Given the description of an element on the screen output the (x, y) to click on. 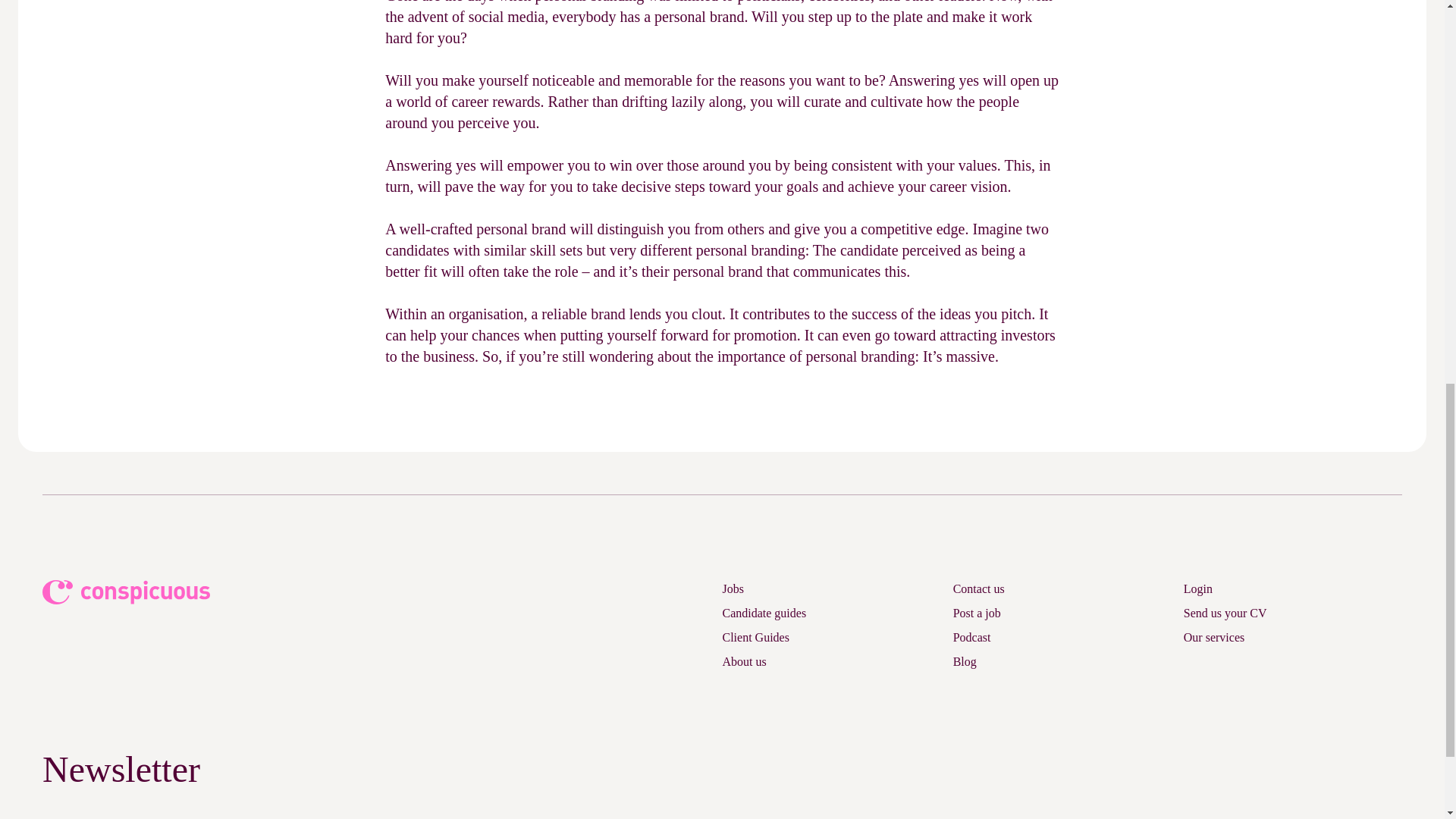
Our services (1213, 636)
Send us your CV (1224, 612)
Podcast (972, 636)
About us (743, 661)
Login (1197, 588)
Post a job (977, 612)
Conspicuous (127, 591)
Blog (964, 661)
Contact us (978, 588)
Candidate guides (764, 612)
